Given the description of an element on the screen output the (x, y) to click on. 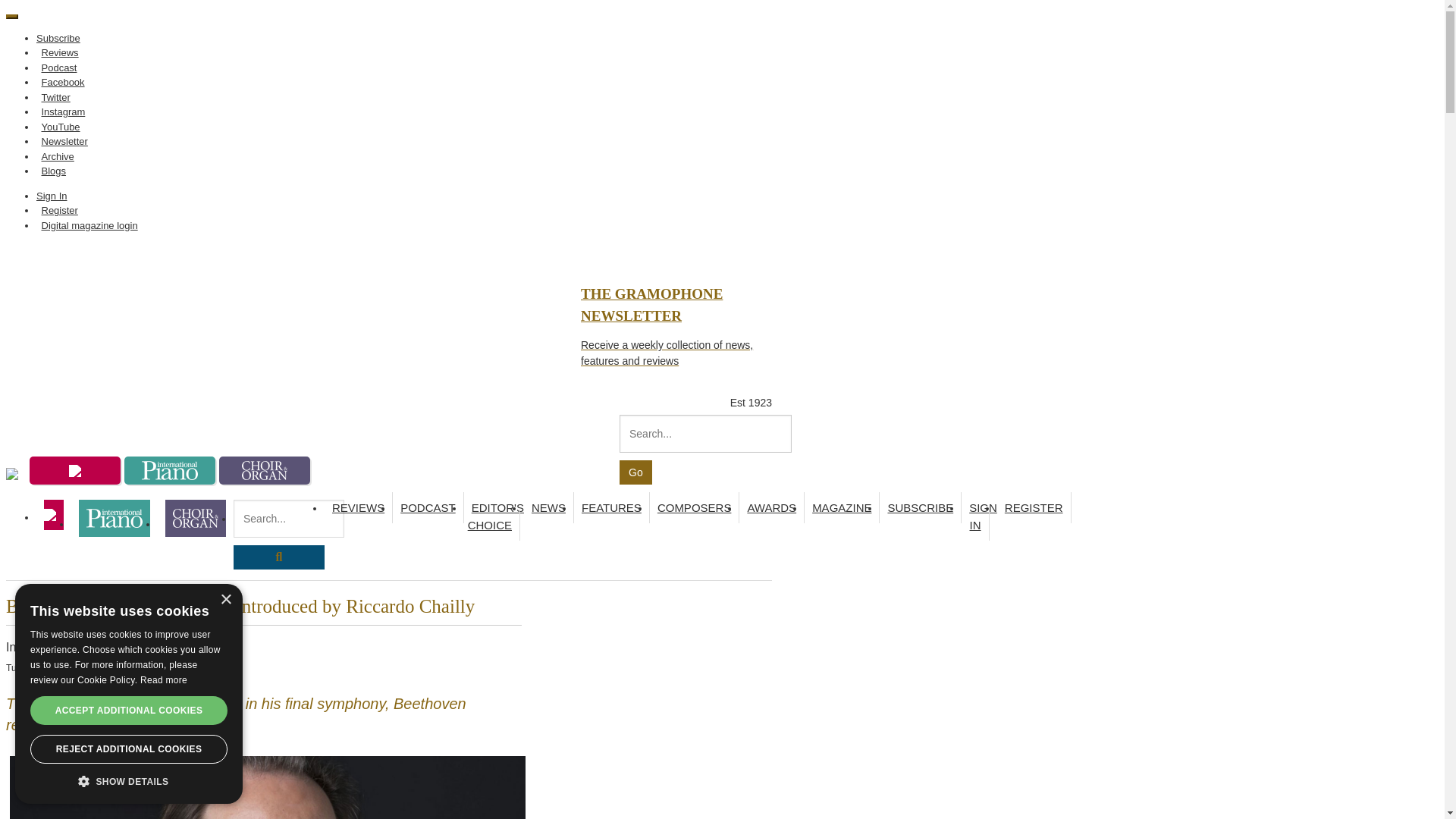
SUBSCRIBE (919, 507)
3rd party ad content (281, 284)
REVIEWS (358, 507)
REGISTER (1034, 507)
Blogs (53, 171)
Go (636, 472)
AWARDS (772, 507)
Facebook (62, 82)
Twitter (55, 97)
PODCAST (428, 507)
Sign In (53, 196)
Digital magazine login (89, 225)
Archive (57, 156)
Register (59, 210)
